Given the description of an element on the screen output the (x, y) to click on. 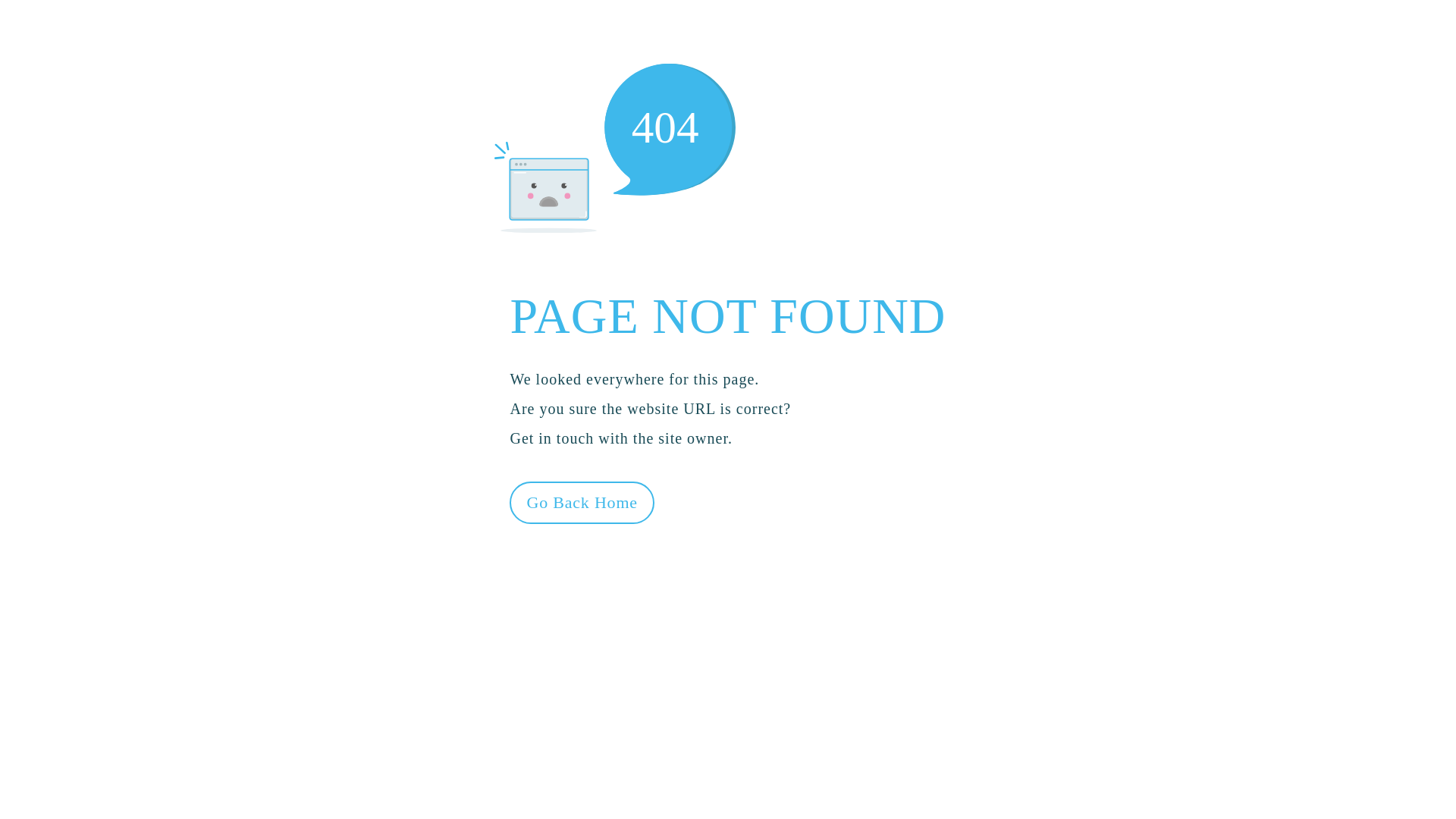
Go Back Home Element type: text (581, 502)
